Given the description of an element on the screen output the (x, y) to click on. 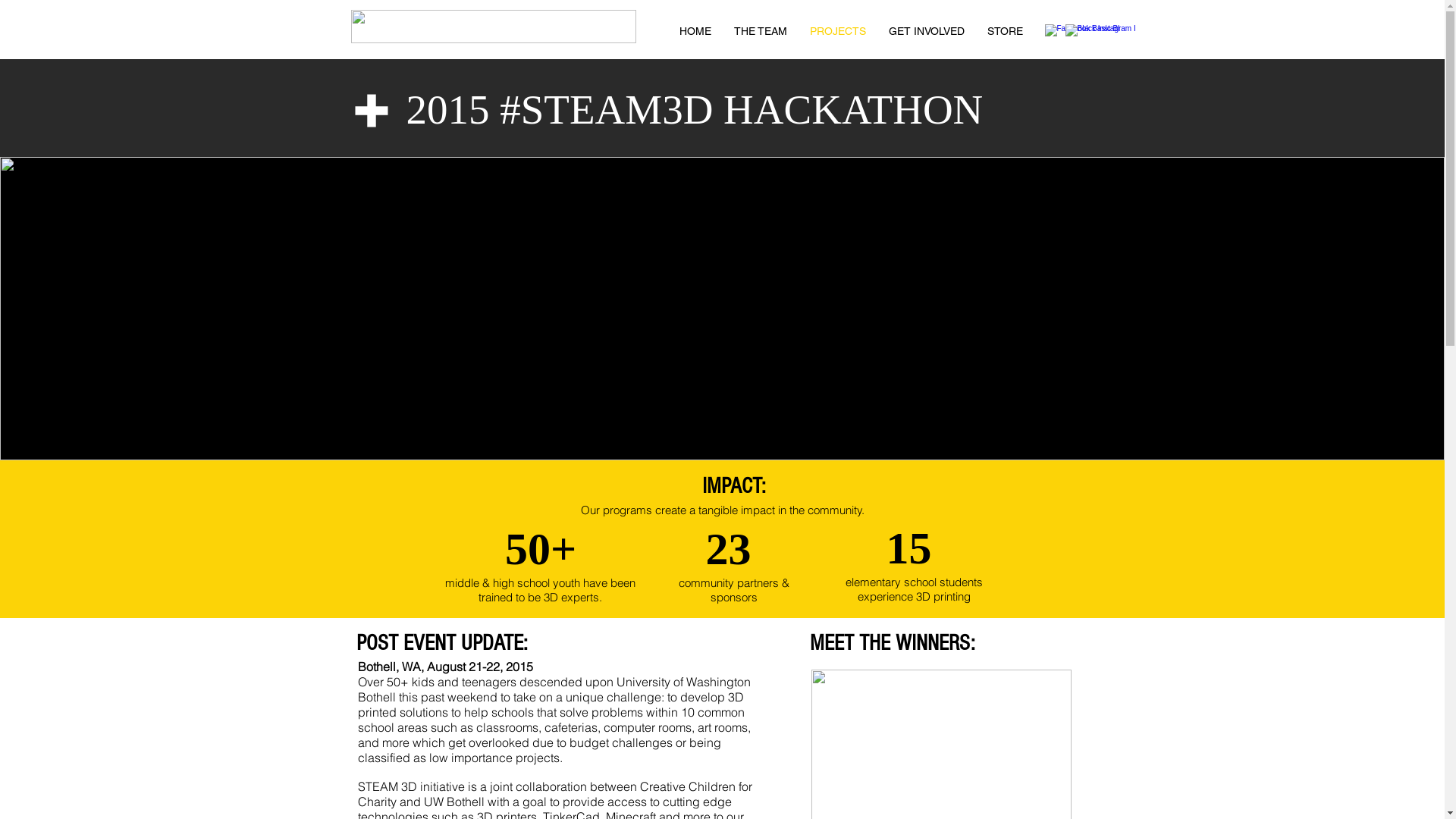
THE TEAM Element type: text (759, 30)
GET INVOLVED Element type: text (925, 30)
PROJECTS Element type: text (836, 30)
STORE Element type: text (1004, 30)
HOME Element type: text (694, 30)
